Given the description of an element on the screen output the (x, y) to click on. 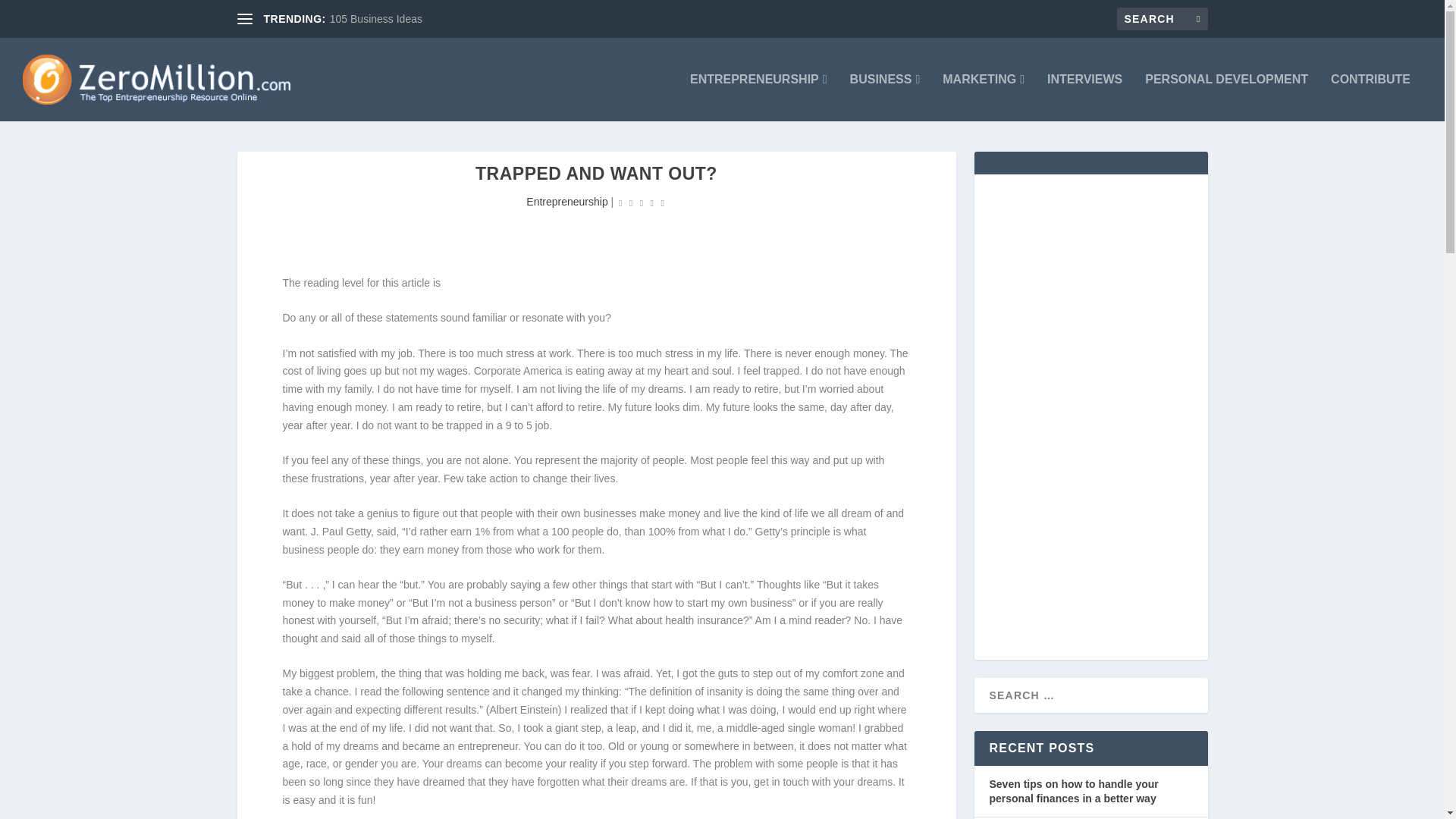
BUSINESS (885, 97)
MARKETING (983, 97)
PERSONAL DEVELOPMENT (1225, 97)
INTERVIEWS (1084, 97)
CONTRIBUTE (1370, 97)
Advertisement (512, 222)
ENTREPRENEURSHIP (758, 97)
Search for: (1161, 18)
105 Business Ideas (376, 19)
Rating: 0.00 (640, 202)
Entrepreneurship (566, 201)
